Given the description of an element on the screen output the (x, y) to click on. 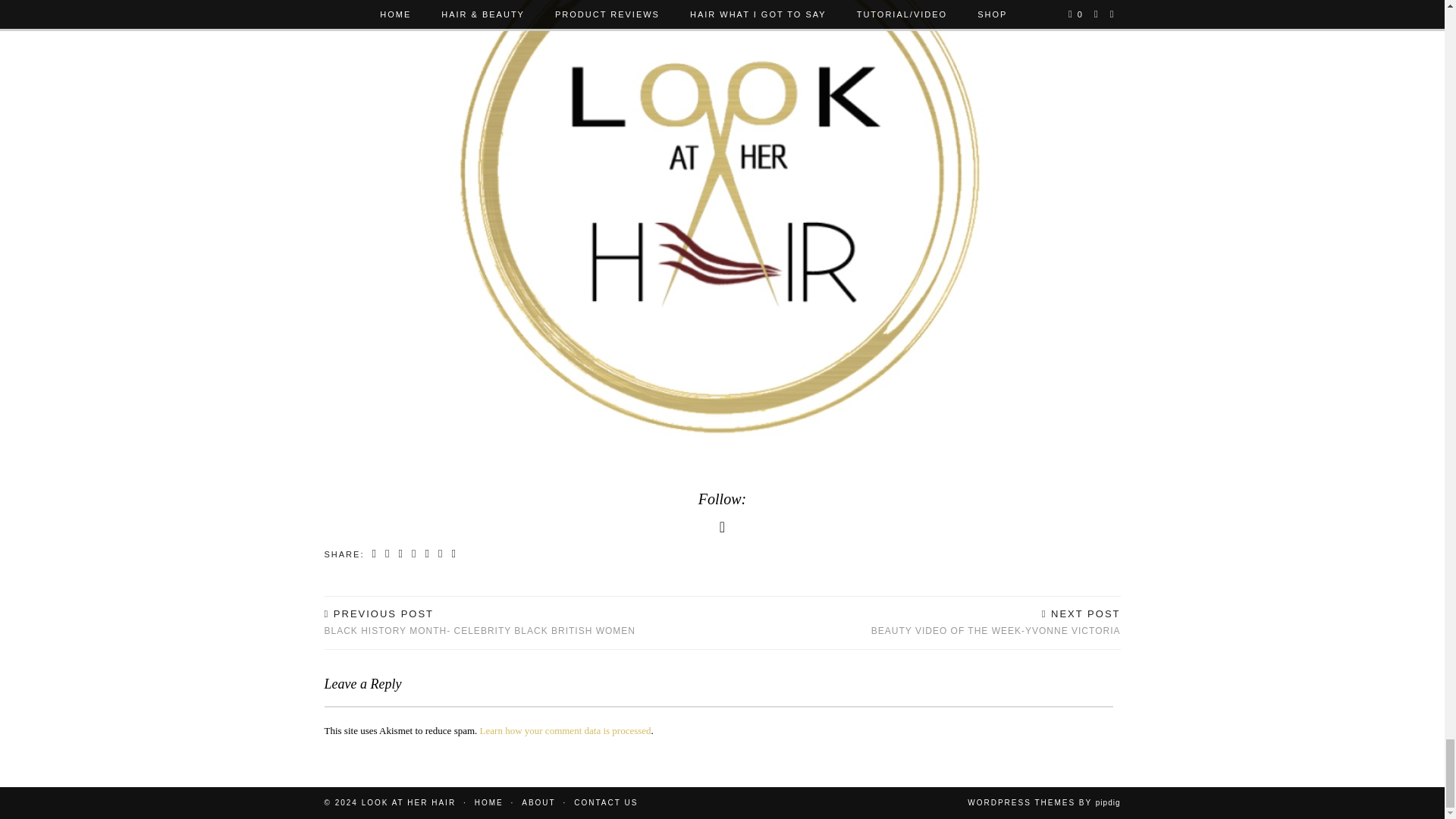
Share on Facebook (387, 554)
Share on Twitter (400, 554)
Share on tumblr (426, 554)
Share via email (374, 554)
Share on Pinterest (413, 554)
